Given the description of an element on the screen output the (x, y) to click on. 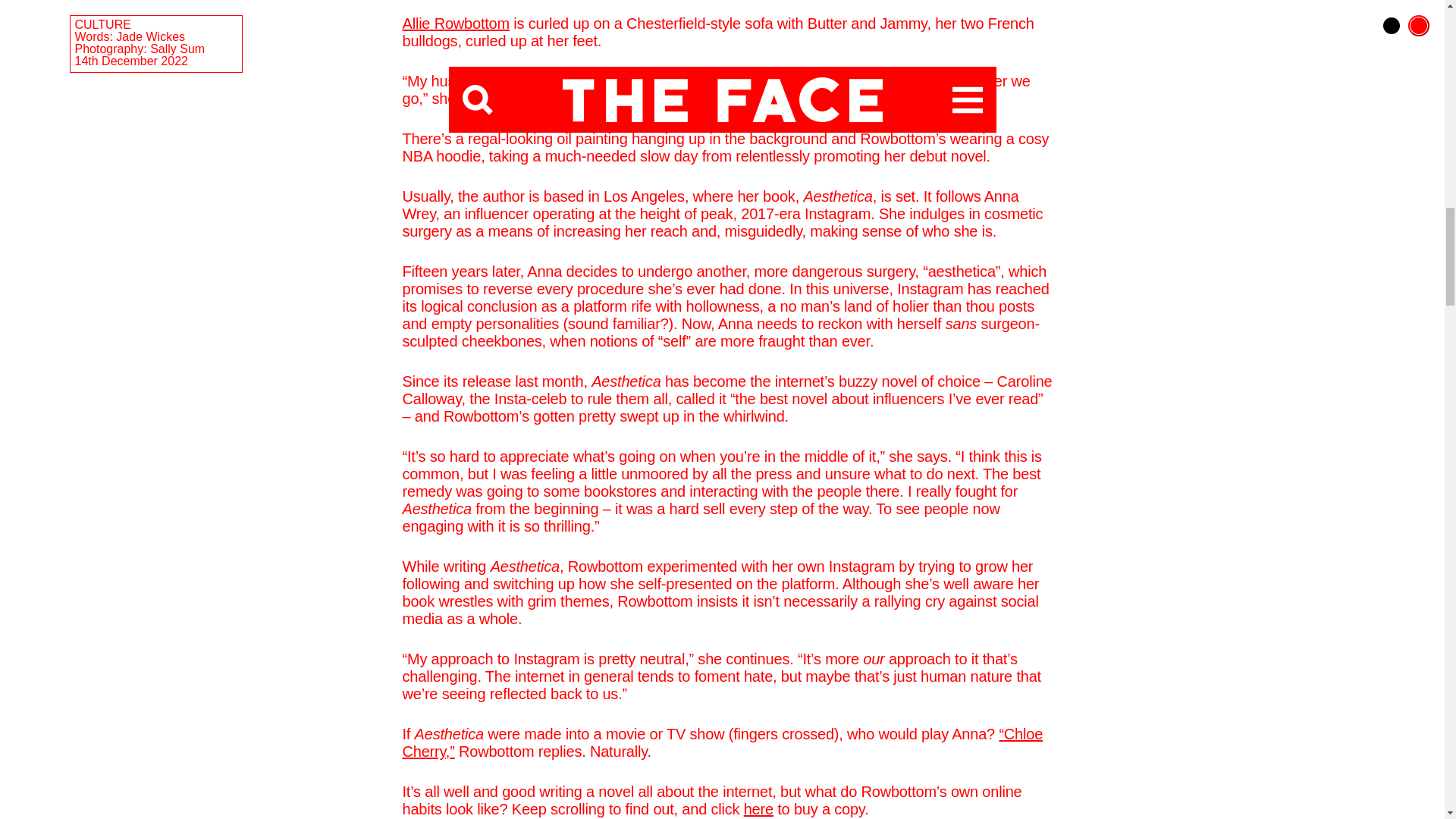
CULTURE (102, 24)
Allie Rowbottom (455, 23)
Jade Wickes (150, 36)
Sally Sum (177, 48)
here (758, 808)
